Given the description of an element on the screen output the (x, y) to click on. 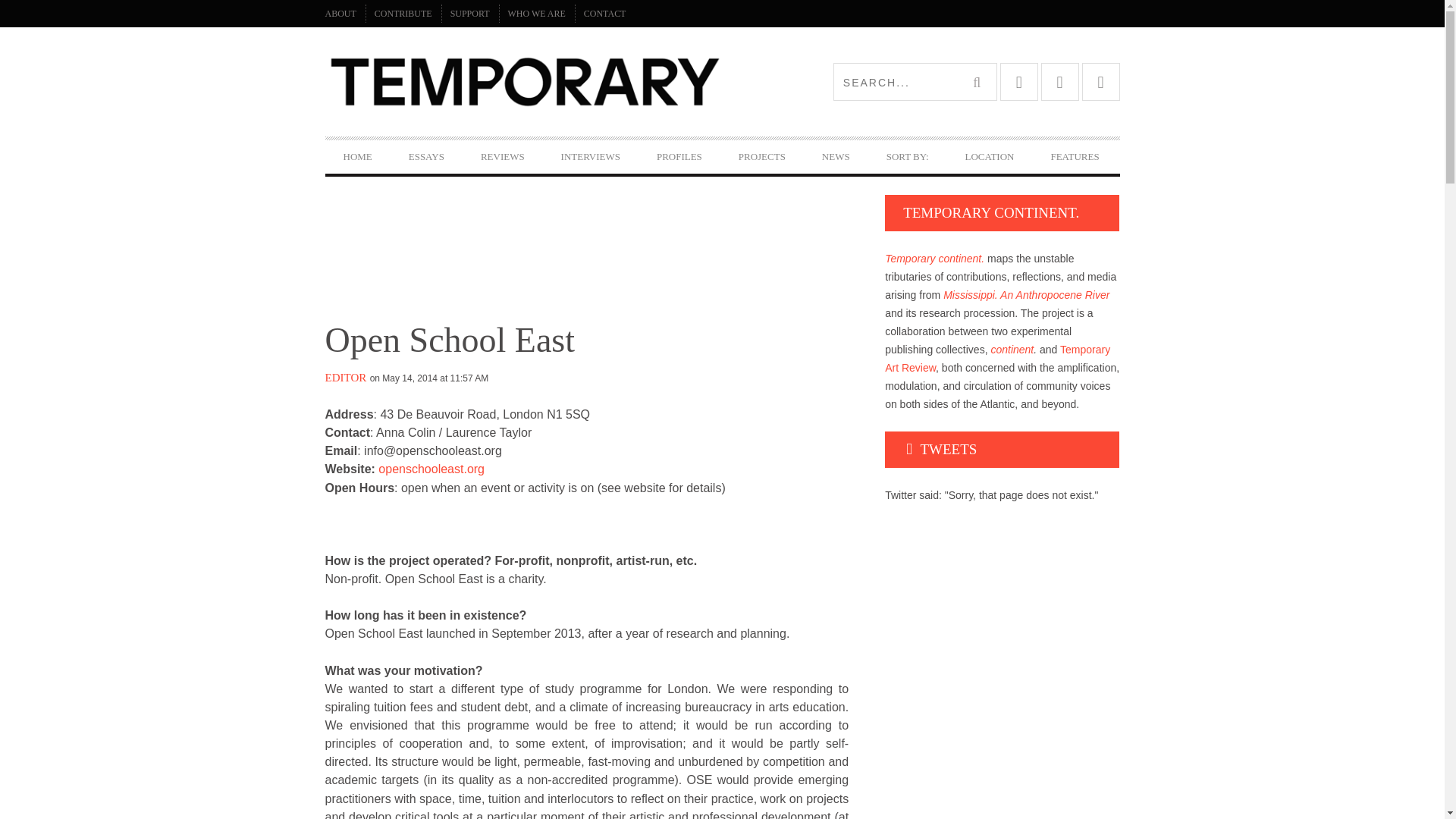
Posts by Editor (345, 377)
Temporary Art Review (523, 81)
